Given the description of an element on the screen output the (x, y) to click on. 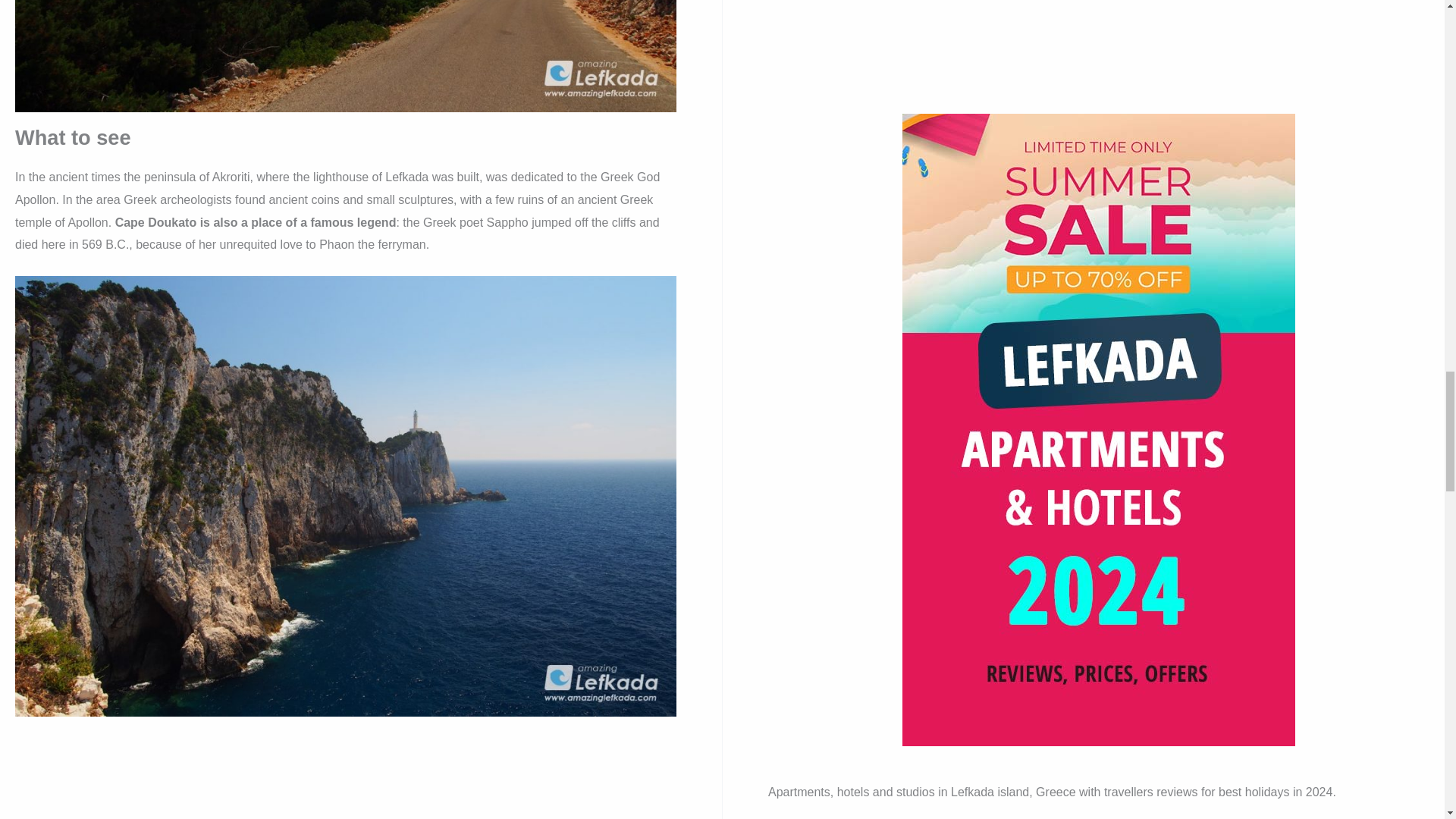
Travel to the lighthouse of Lefkada (345, 100)
Cape Doukato (345, 704)
